Given the description of an element on the screen output the (x, y) to click on. 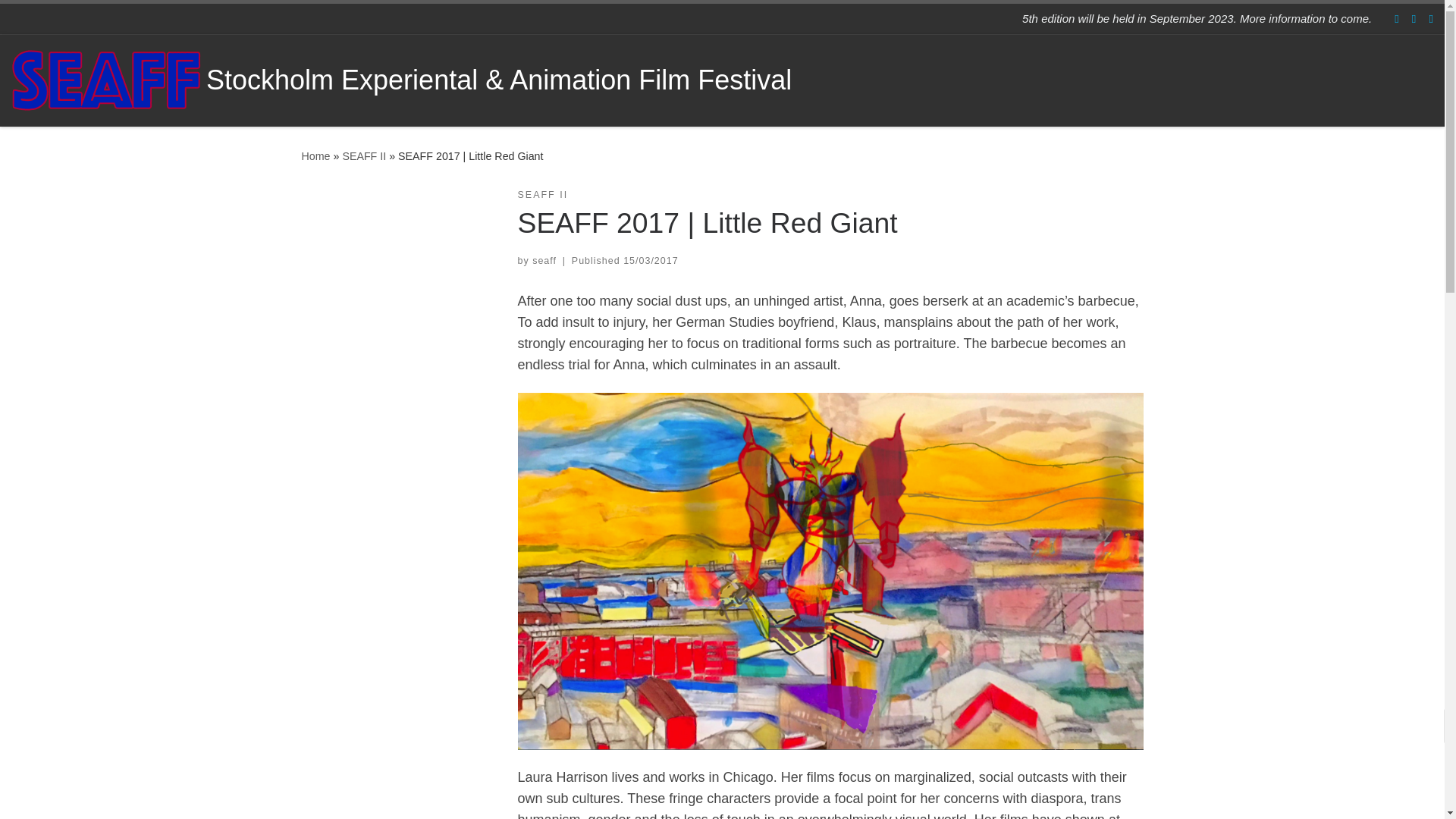
14:00 (650, 260)
Skip to content (60, 20)
SEAFF II (363, 155)
View all posts in SEAFF II (541, 195)
SEAFF II (363, 155)
View all posts by seaff (544, 260)
Home (315, 155)
seaff (544, 260)
SEAFF II (541, 195)
